Given the description of an element on the screen output the (x, y) to click on. 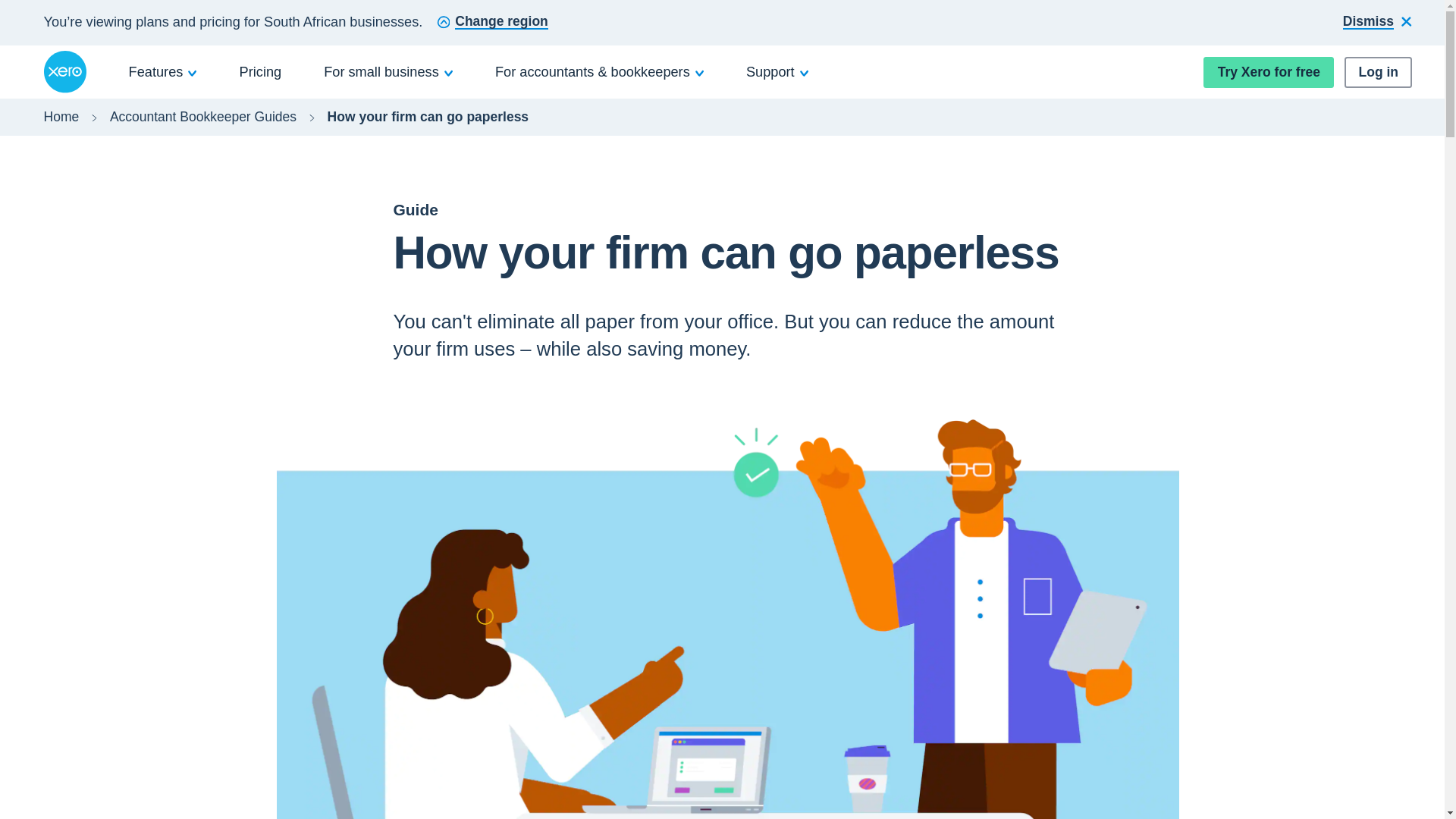
Home (61, 116)
Accountant Bookkeeper Guides (203, 116)
Support (777, 71)
Log in (1377, 71)
Dismiss (1377, 23)
Features (162, 71)
Try Xero for free (1268, 71)
How your firm can go paperless (427, 116)
For small business (388, 71)
Pricing (260, 71)
